Given the description of an element on the screen output the (x, y) to click on. 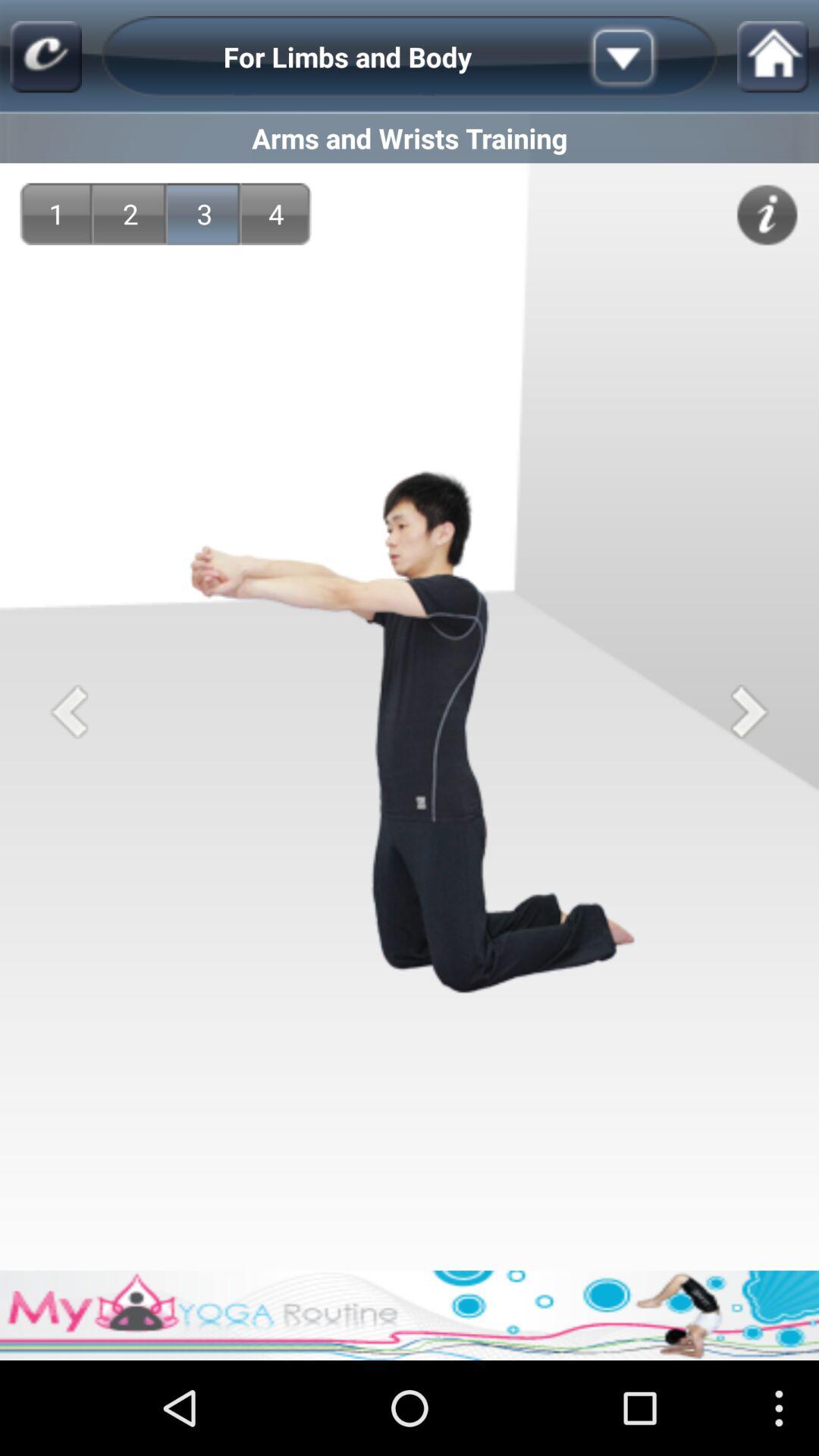
go to website (45, 56)
